Given the description of an element on the screen output the (x, y) to click on. 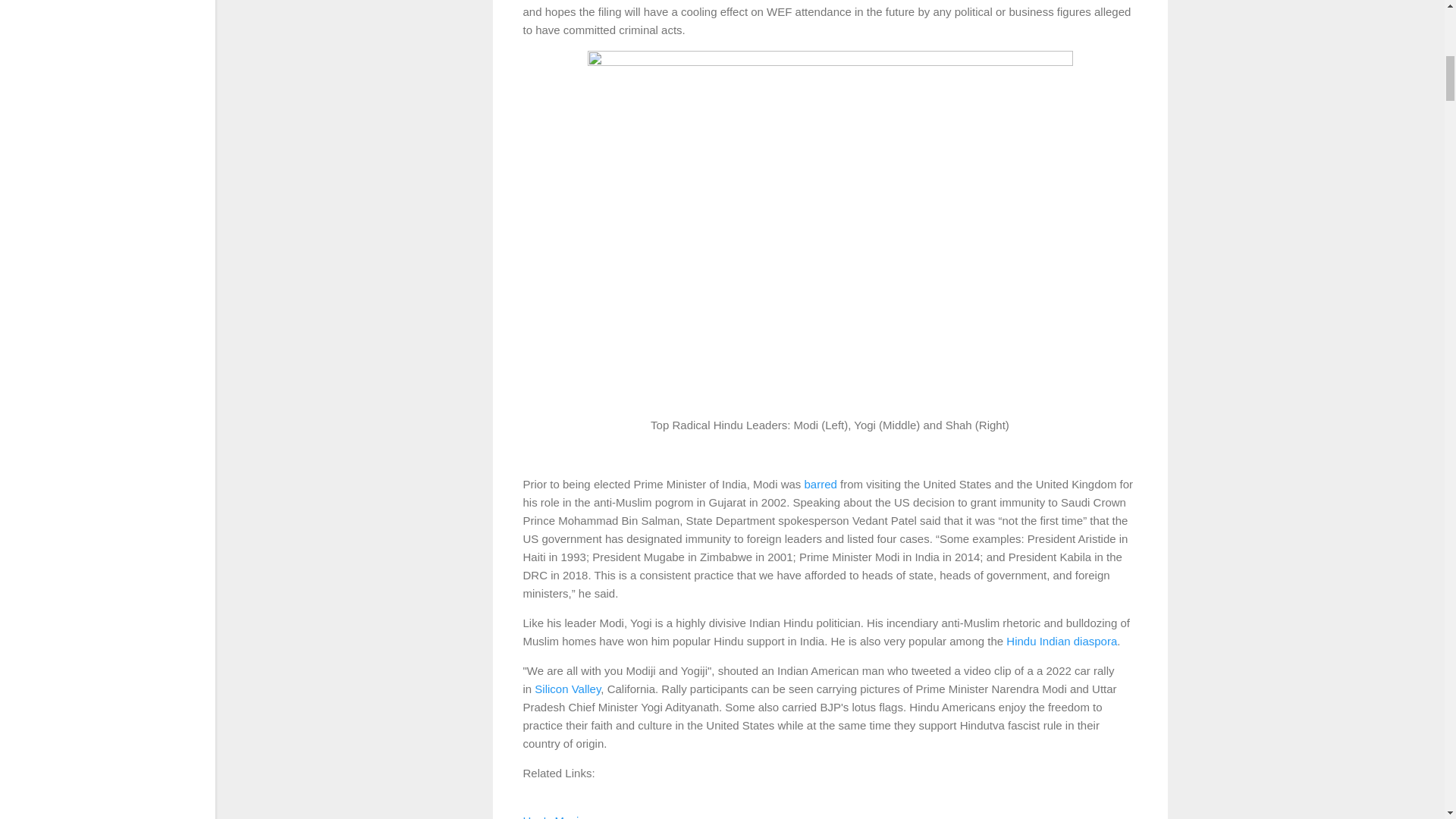
Haq's Musings (559, 816)
Silicon Valley (566, 688)
barred (819, 483)
Hindu Indian diaspora (1061, 640)
